Given the description of an element on the screen output the (x, y) to click on. 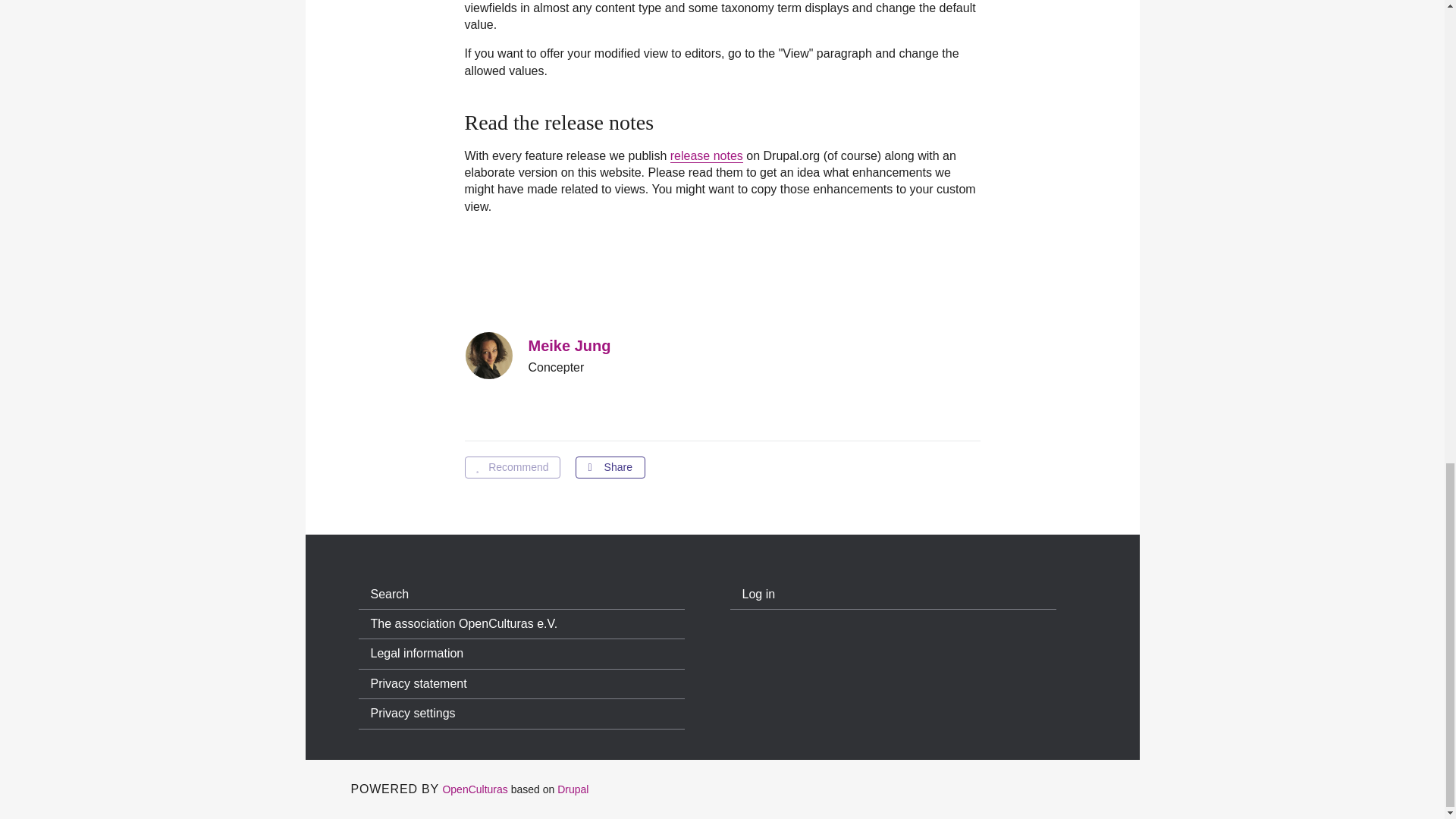
release notes (705, 155)
Log in to recommend (511, 467)
Recommend (511, 467)
Meike Jung (568, 345)
Share (610, 467)
